Given the description of an element on the screen output the (x, y) to click on. 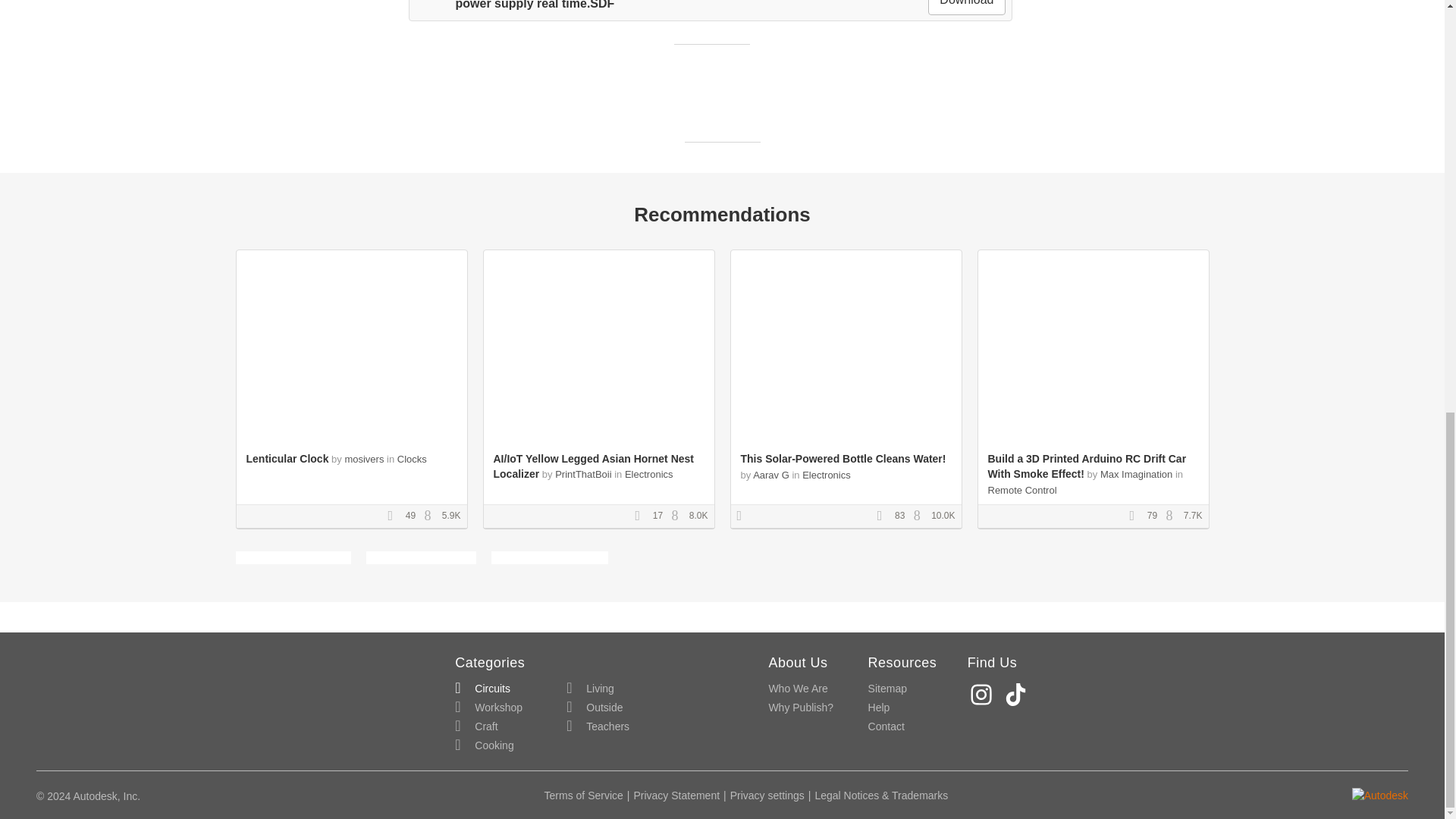
Views Count (431, 516)
Favorites Count (641, 516)
Instagram (983, 694)
PrintThatBoii (584, 473)
Aarav G (770, 474)
power supply real time.SDF (513, 4)
Favorites Count (1136, 516)
Build a 3D Printed Arduino RC Drift Car With Smoke Effect! (1086, 465)
Clocks (411, 459)
Contest Winner (744, 516)
